Given the description of an element on the screen output the (x, y) to click on. 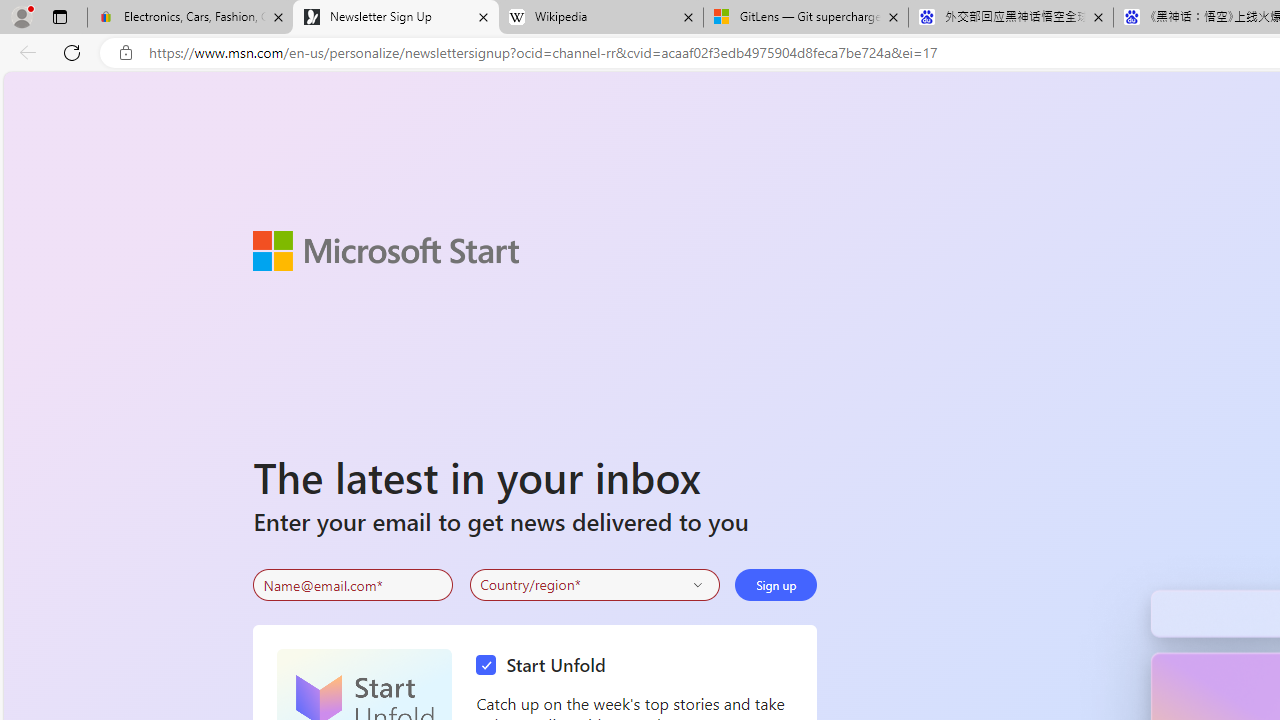
Microsoft Start (385, 249)
